Given the description of an element on the screen output the (x, y) to click on. 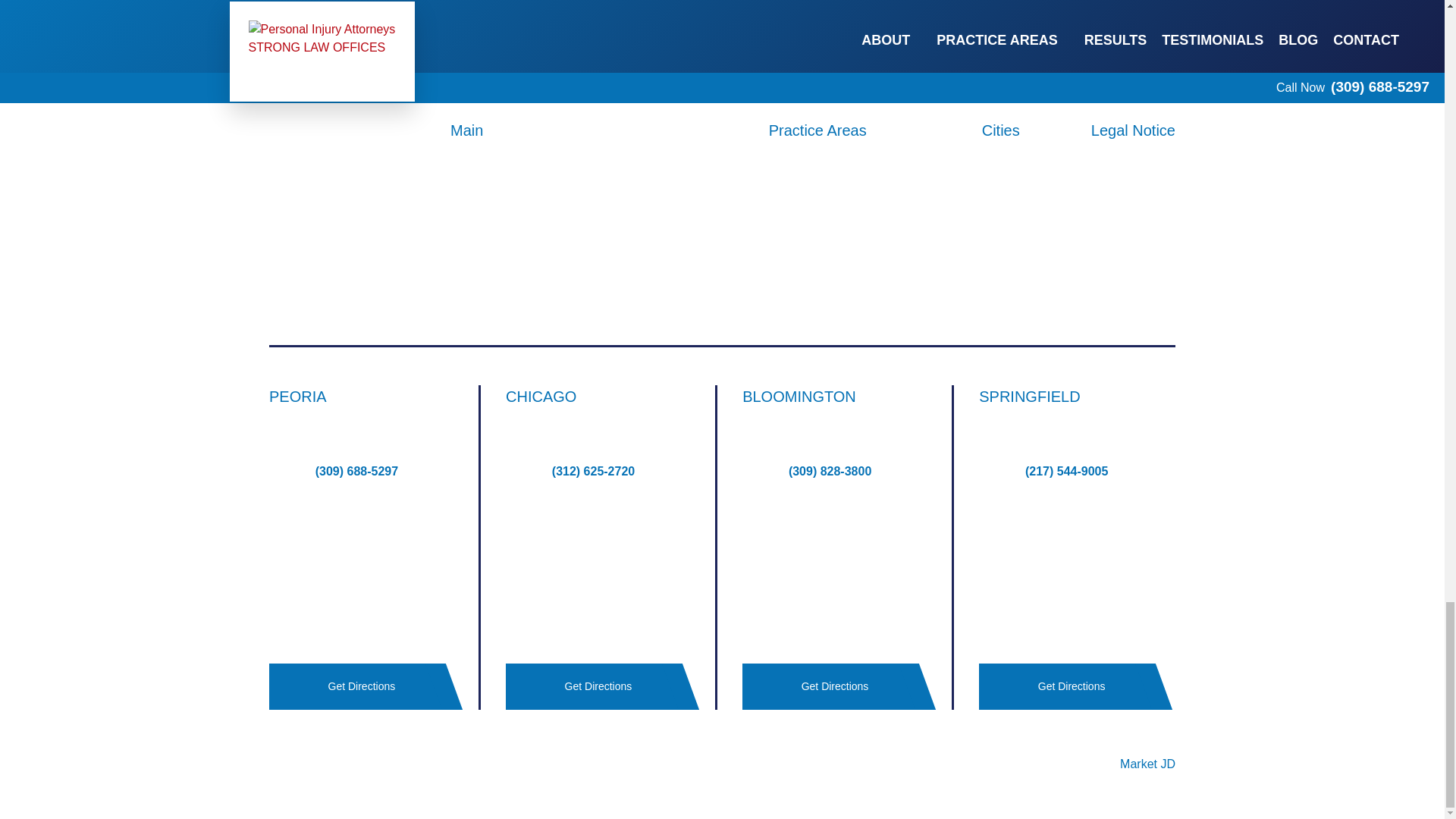
Springfield Office (1076, 571)
Peoria Office (367, 571)
Chicago Office (603, 571)
Bloomington Office (840, 571)
